Given the description of an element on the screen output the (x, y) to click on. 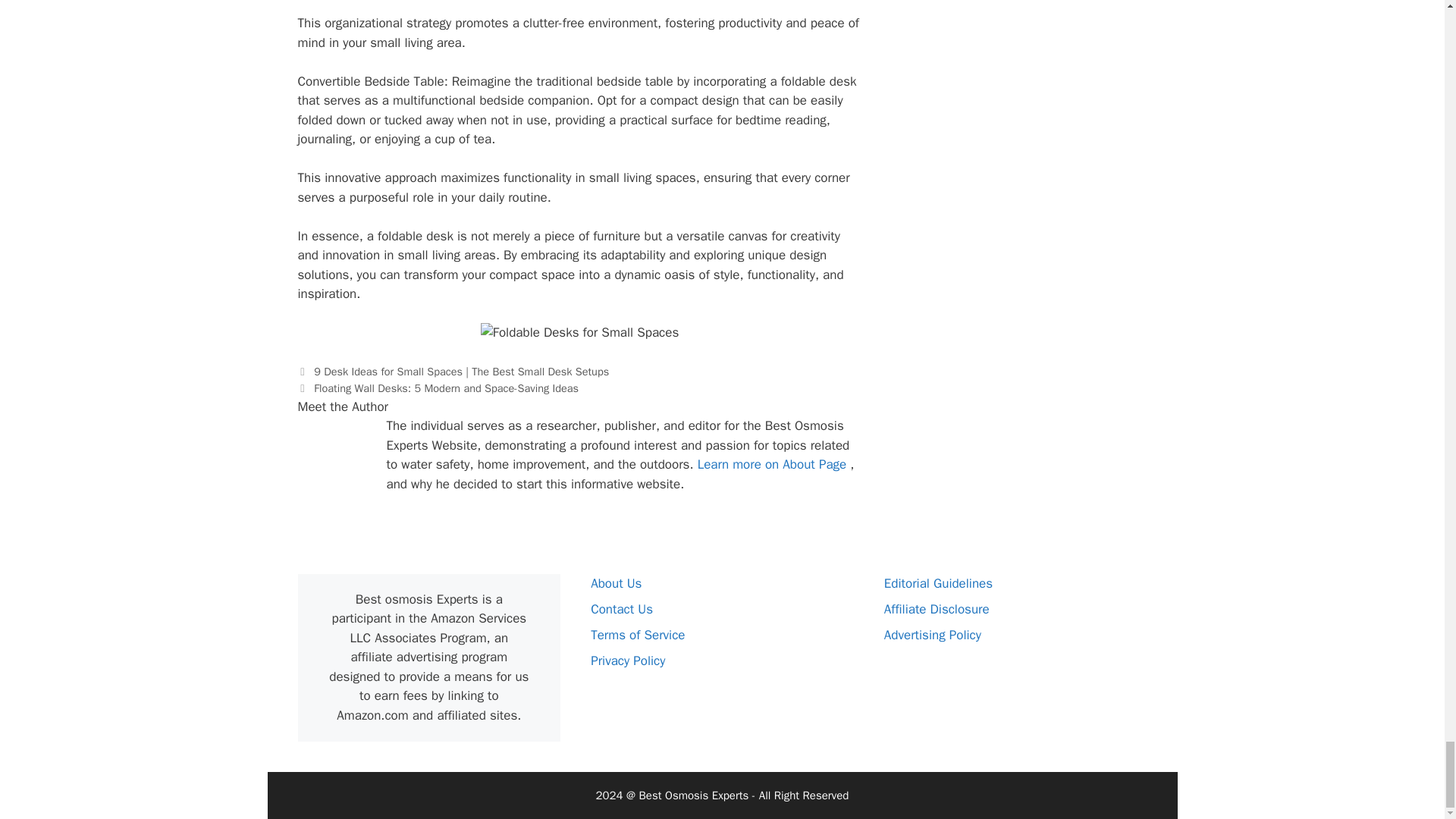
5 Foldable Desks for Small Spaces on Amazon 11 (579, 332)
Terms of Service (637, 634)
Floating Wall Desks: 5 Modern and Space-Saving Ideas (446, 387)
Editorial Guidelines (937, 583)
Privacy Policy (628, 660)
Advertising Policy (932, 634)
Contact Us (621, 609)
About Us (616, 583)
Learn more on About Page (773, 464)
Affiliate Disclosure (936, 609)
